Given the description of an element on the screen output the (x, y) to click on. 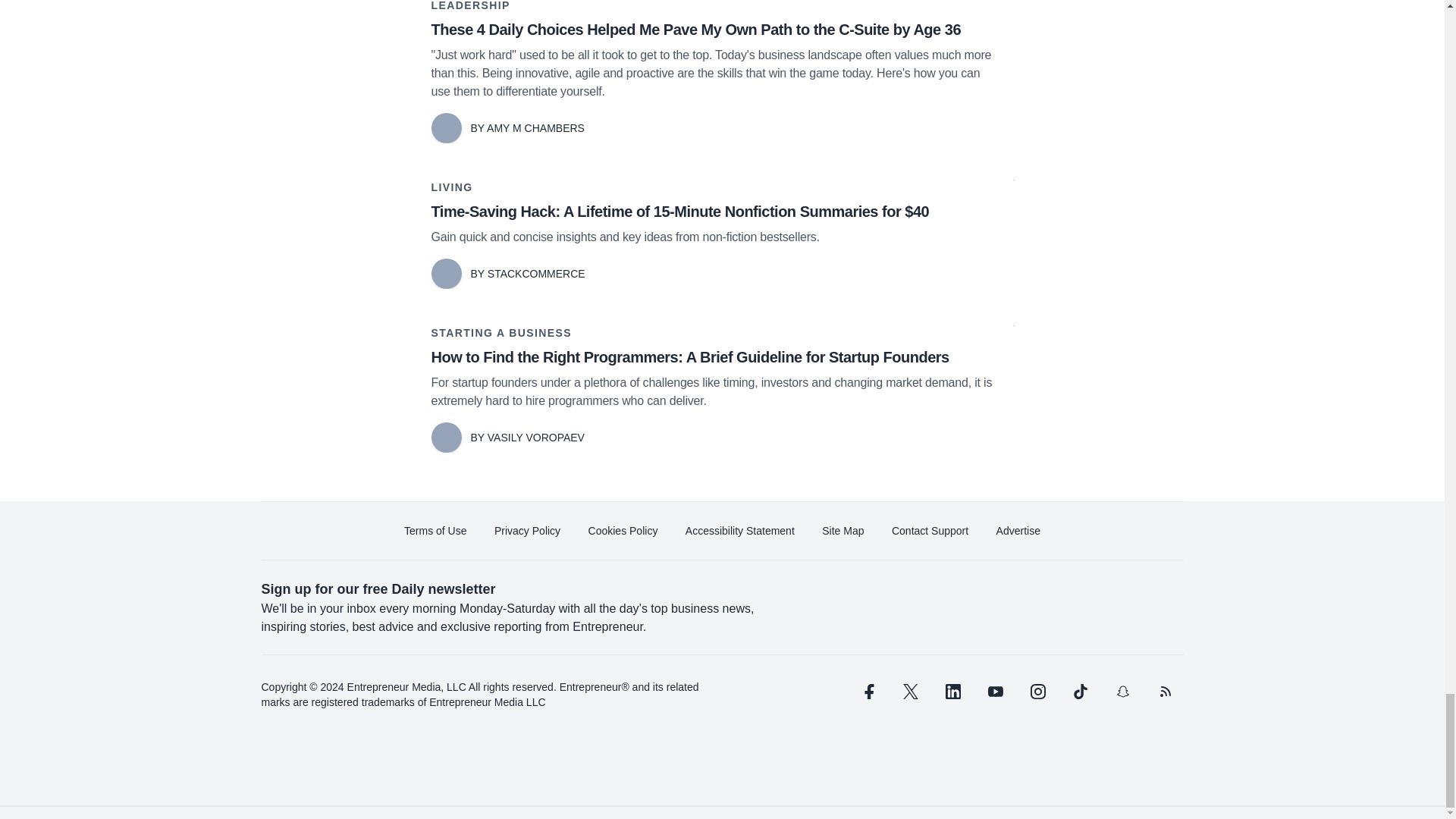
youtube (994, 691)
facebook (866, 691)
tiktok (1079, 691)
twitter (909, 691)
snapchat (1121, 691)
linkedin (952, 691)
instagram (1037, 691)
